Given the description of an element on the screen output the (x, y) to click on. 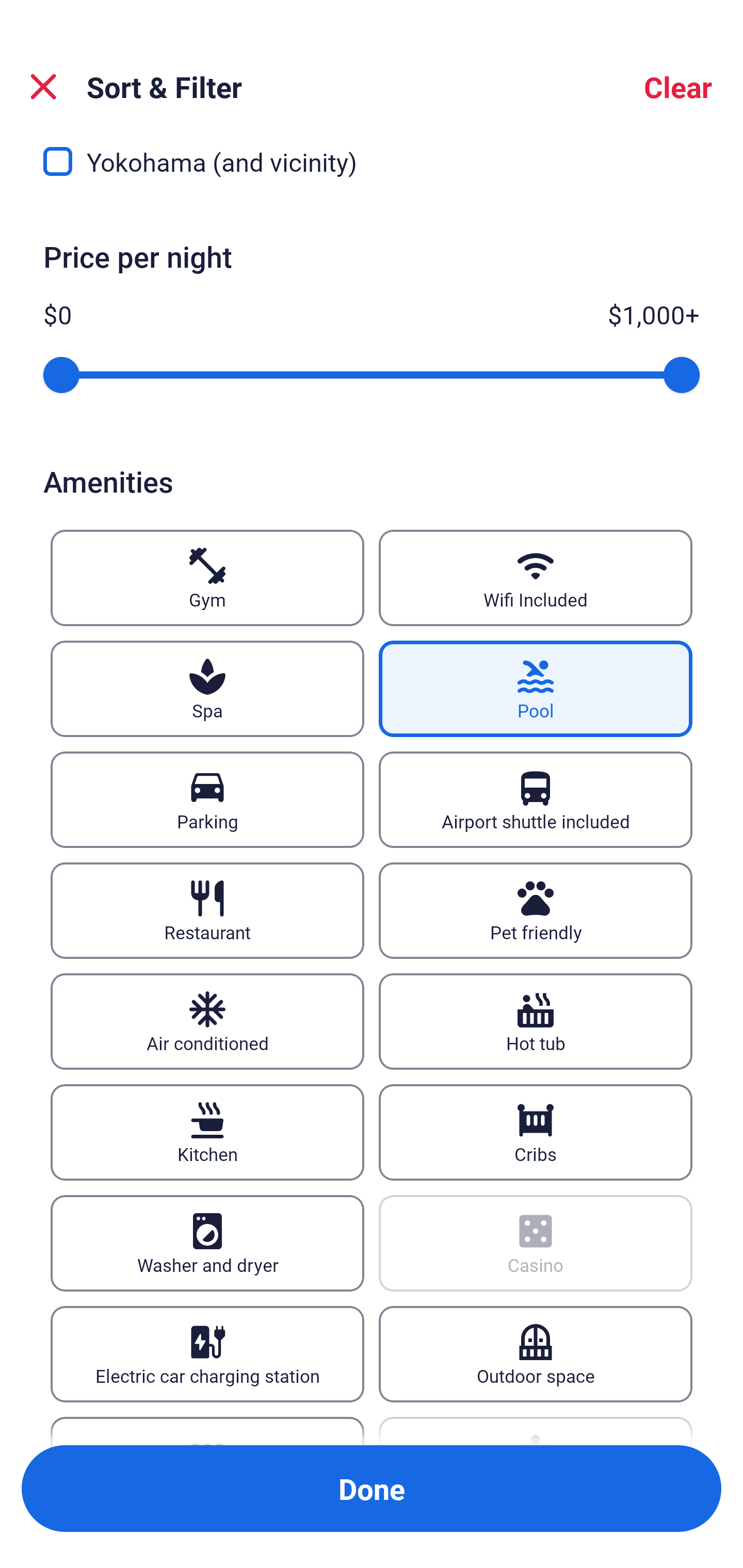
Close Sort and Filter (43, 86)
Clear (677, 86)
Yokohama (and vicinity), Yokohama (and vicinity) (371, 167)
Gym (207, 577)
Wifi Included (535, 577)
Spa (207, 688)
Pool (535, 688)
Parking (207, 799)
Airport shuttle included (535, 799)
Restaurant (207, 910)
Pet friendly (535, 910)
Air conditioned (207, 1021)
Hot tub (535, 1021)
Kitchen (207, 1131)
Cribs (535, 1131)
Washer and dryer (207, 1243)
Casino (535, 1243)
Electric car charging station (207, 1353)
Outdoor space (535, 1353)
Apply and close Sort and Filter Done (371, 1488)
